Given the description of an element on the screen output the (x, y) to click on. 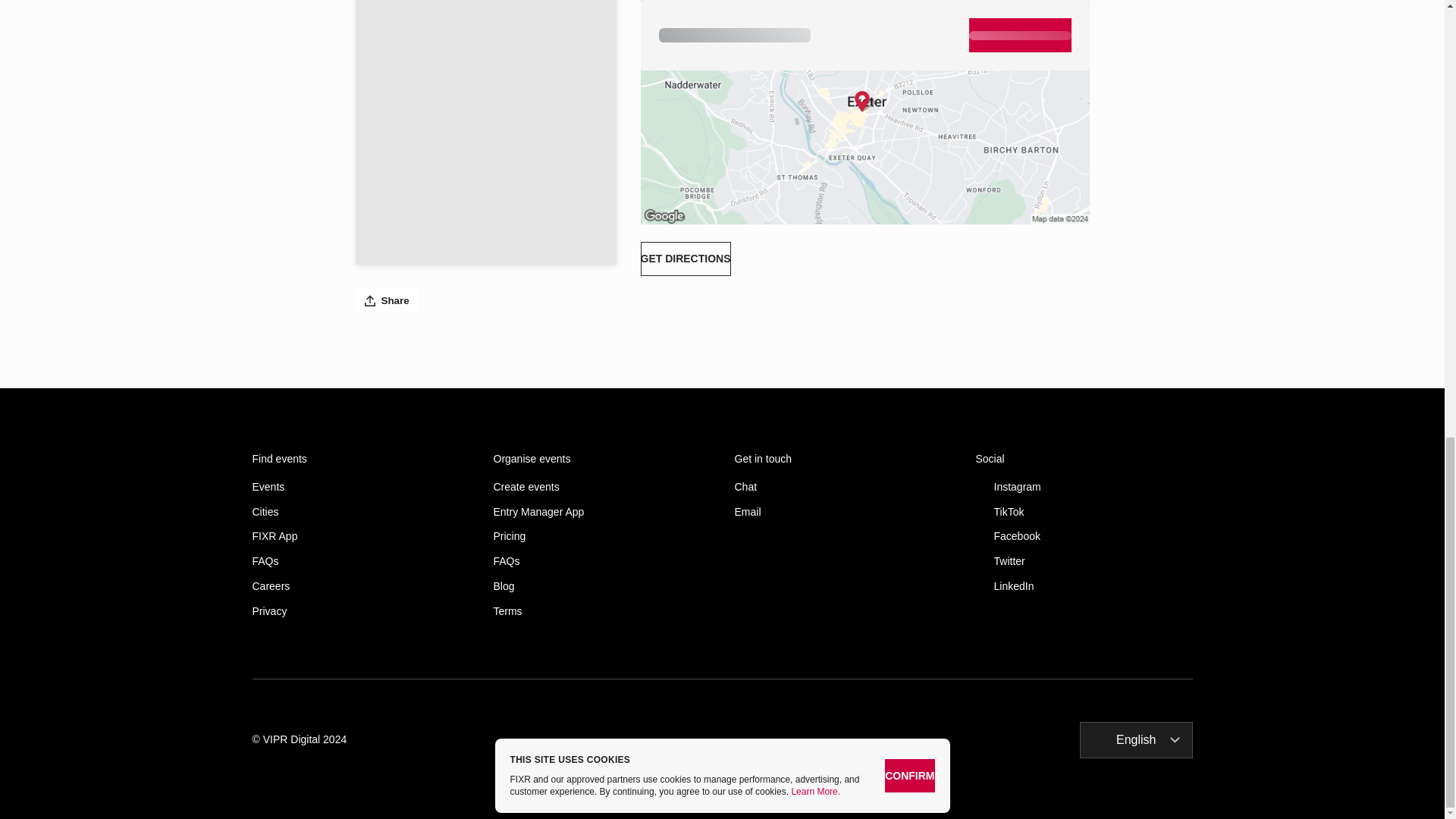
Blog (601, 585)
Privacy (359, 611)
LinkedIn (1083, 585)
Create events (601, 486)
Twitter (1083, 561)
TikTok (1083, 512)
FAQs (601, 561)
FAQs (359, 561)
Chat (841, 486)
Pricing (601, 535)
Events (359, 486)
FIXR App (359, 535)
Instagram (1083, 486)
Facebook (1083, 535)
Email (841, 512)
